Given the description of an element on the screen output the (x, y) to click on. 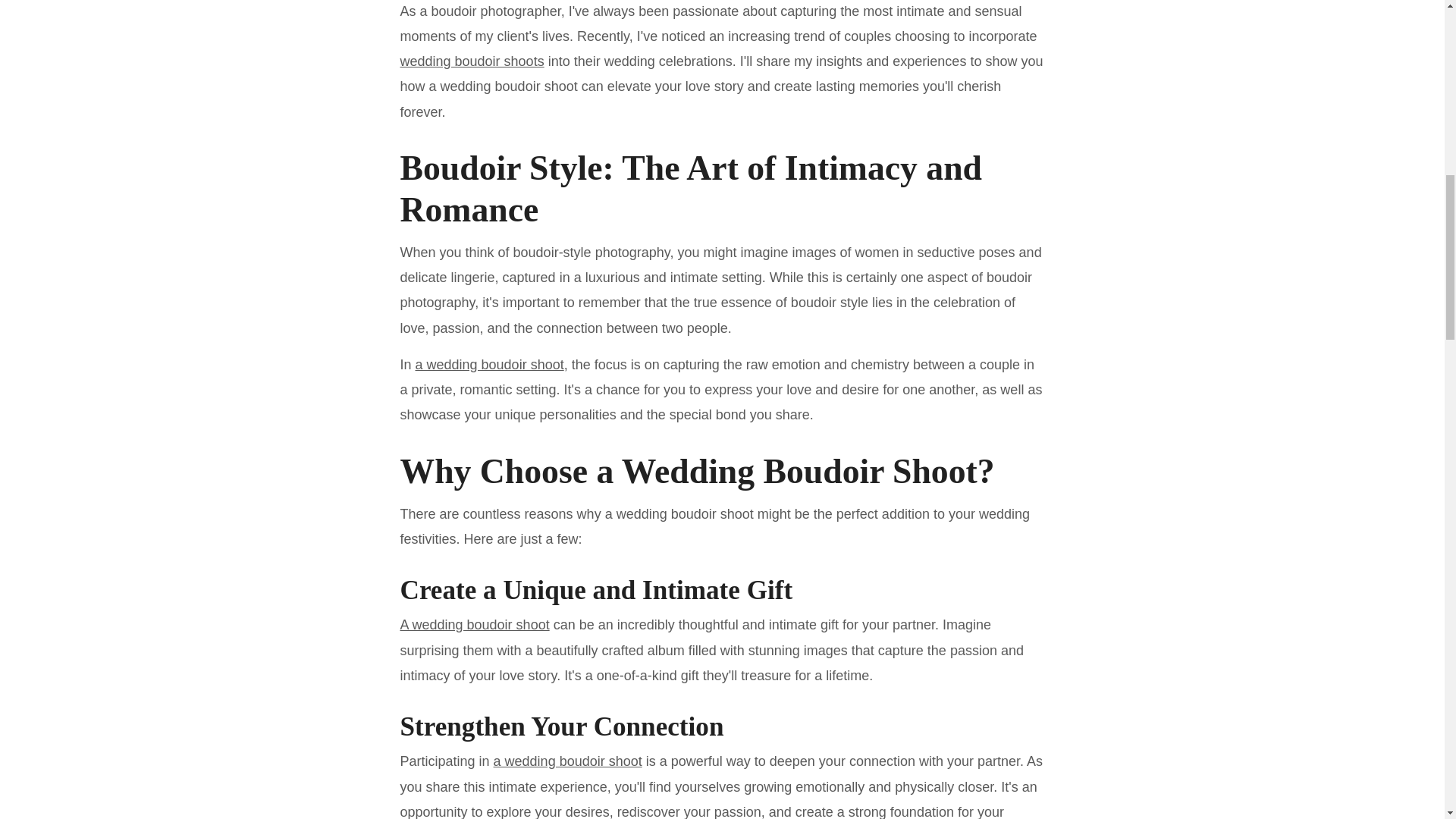
a wedding boudoir shoot (489, 364)
a wedding boudoir shoot (567, 761)
wedding boudoir shoots (472, 61)
A wedding boudoir shoot (475, 624)
